Given the description of an element on the screen output the (x, y) to click on. 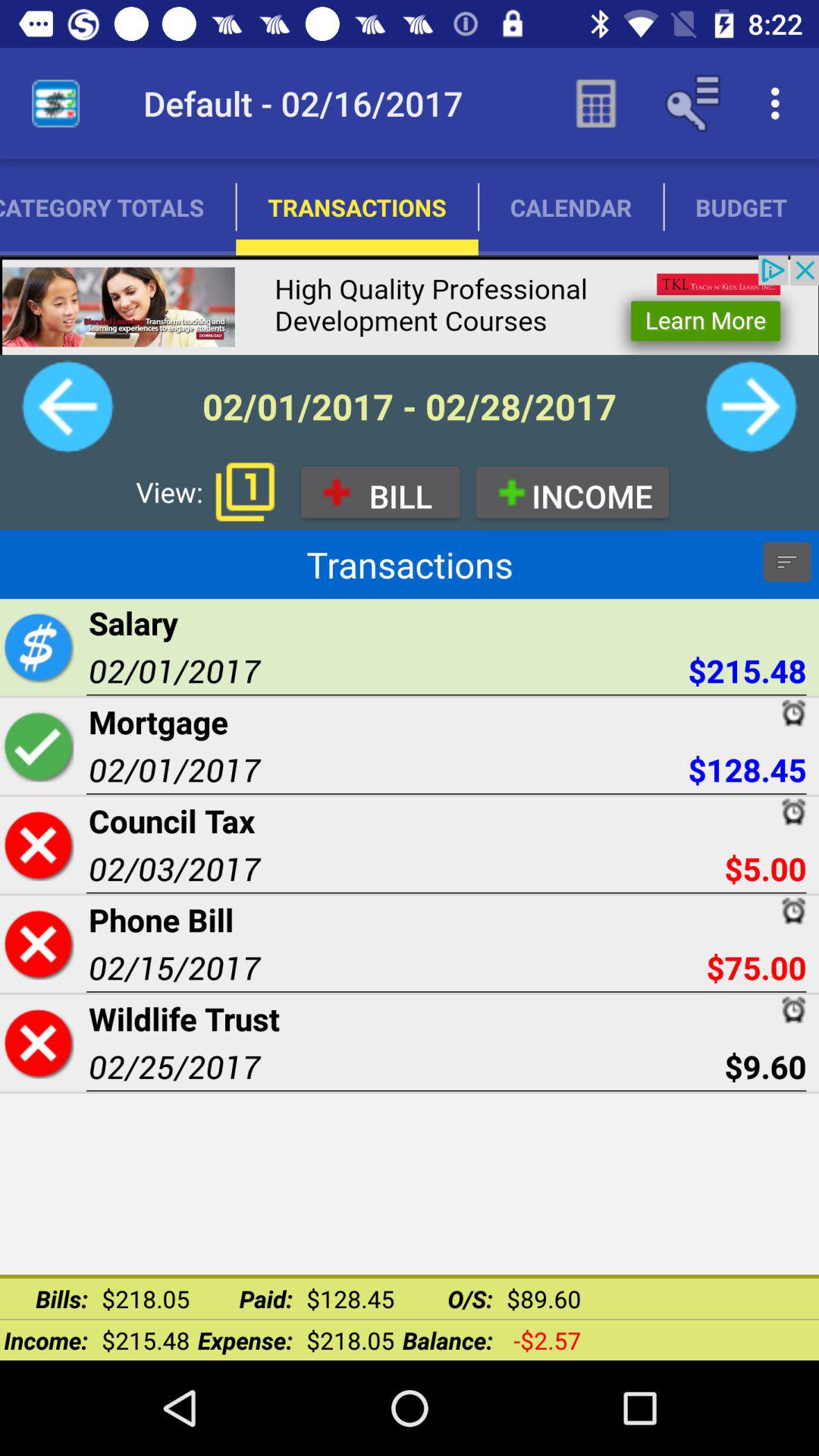
delete (37, 1042)
